Given the description of an element on the screen output the (x, y) to click on. 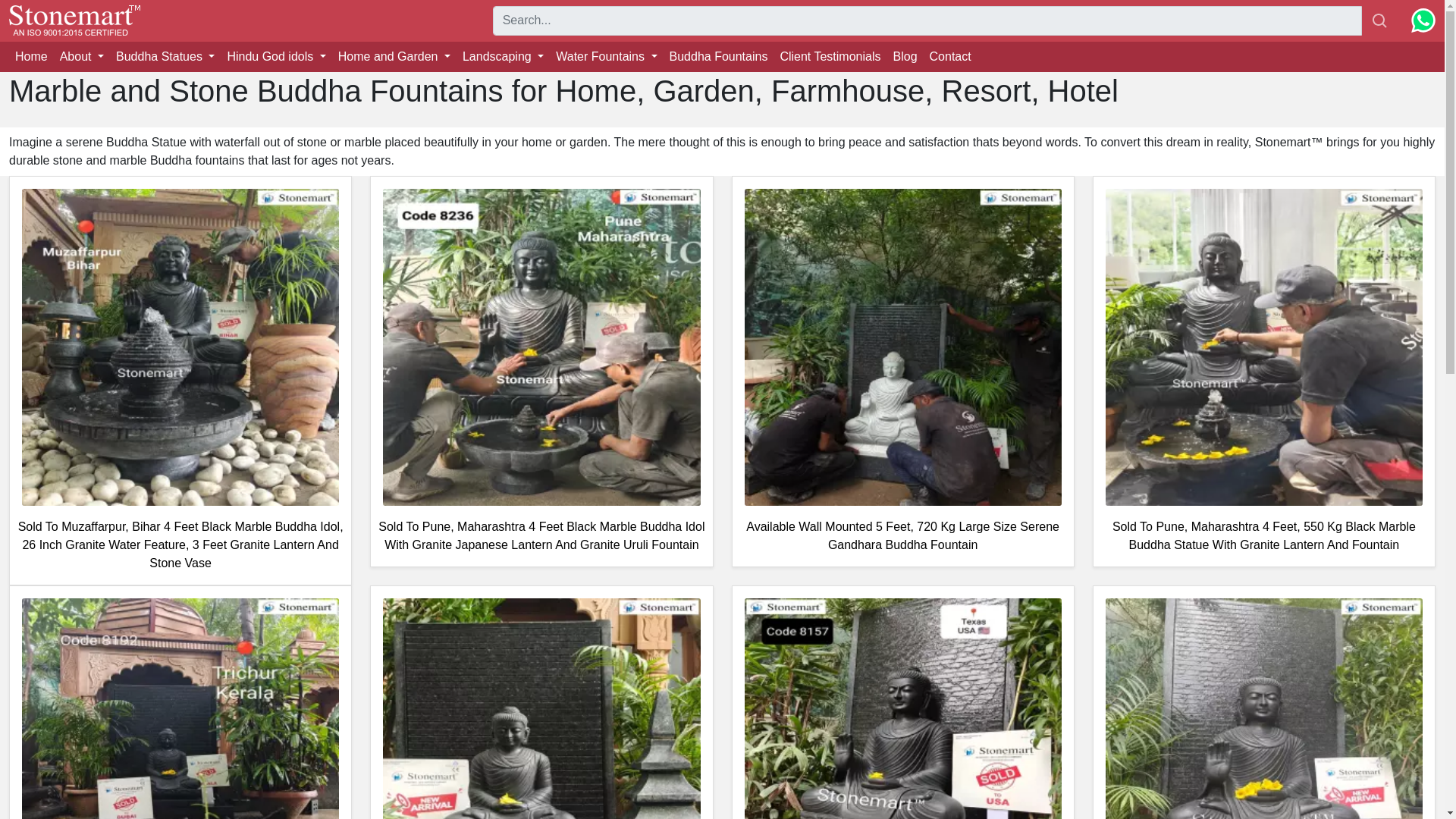
Hindu God idols (276, 56)
Home (30, 56)
About (81, 56)
Home and Garden (394, 56)
Buddha Statues (165, 56)
